Given the description of an element on the screen output the (x, y) to click on. 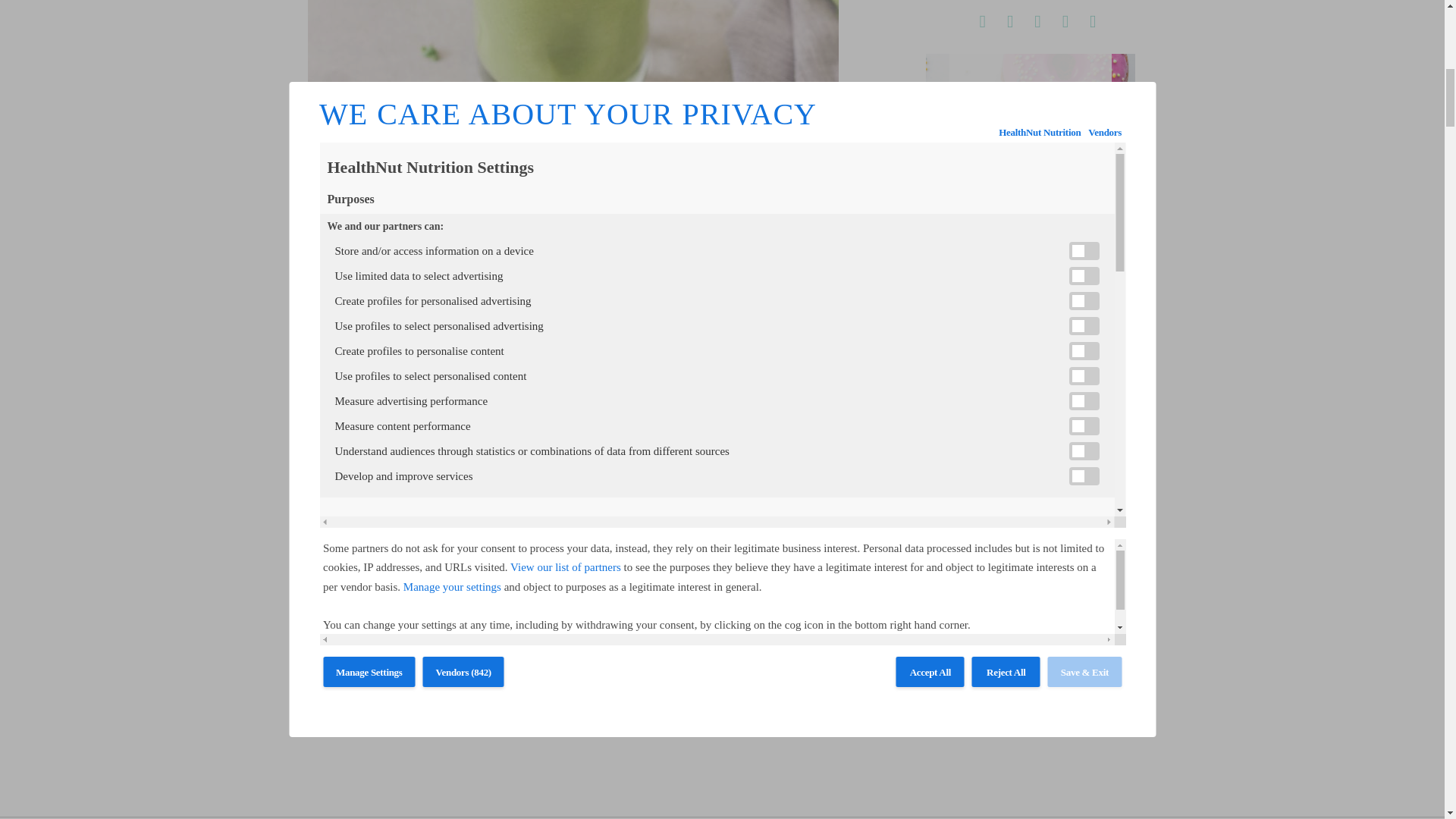
Submit (1029, 270)
